Given the description of an element on the screen output the (x, y) to click on. 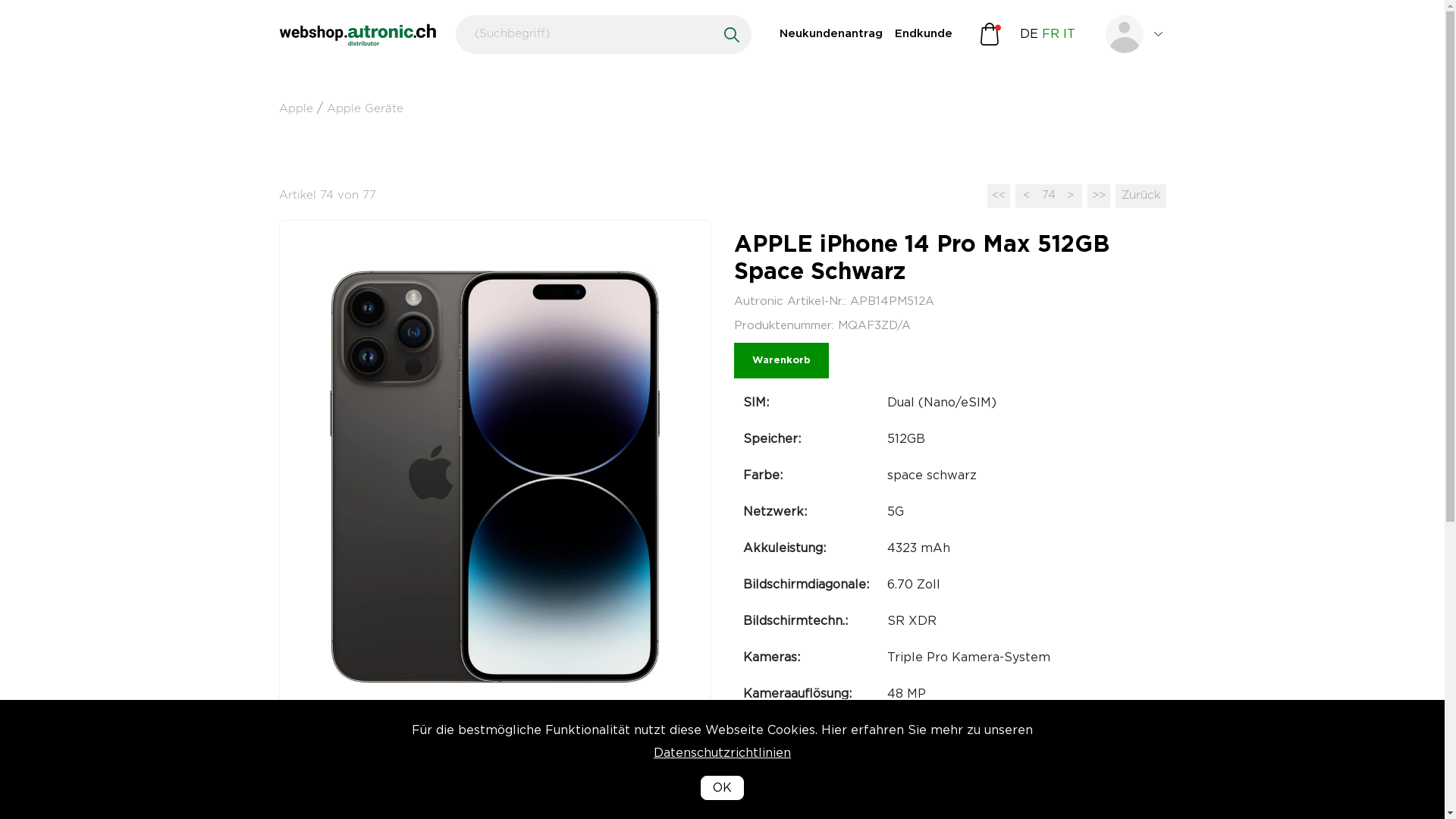
>> Element type: text (1098, 195)
74 Element type: text (1048, 195)
(Suchbegriff) Element type: hover (602, 34)
IT Element type: text (1069, 34)
APPLE iPhone 14 Pro Max 512GB Space Schwarz Element type: hover (495, 476)
Apple Element type: text (296, 108)
Endkunde Element type: text (923, 34)
<< Element type: text (998, 195)
<
Zum vorherigen Artikel Element type: text (1025, 195)
Warenkorb Element type: text (781, 360)
Neukundenantrag Element type: text (830, 34)
OK Element type: text (721, 787)
Suche starten Element type: hover (731, 34)
Datenschutzrichtlinien Element type: text (722, 776)
FR Element type: text (1050, 34)
